Given the description of an element on the screen output the (x, y) to click on. 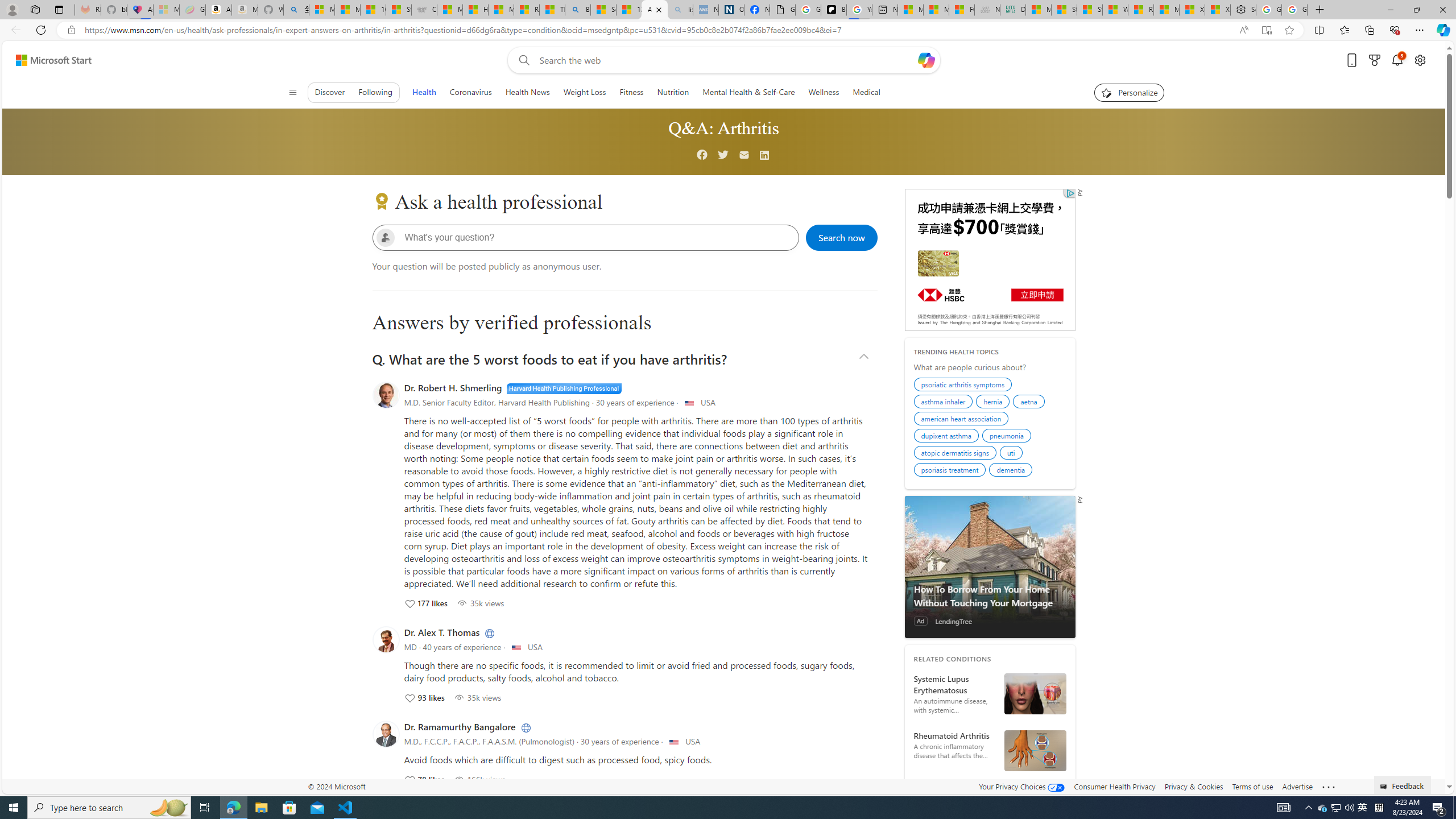
Recipes - MSN (526, 9)
atopic dermatitis signs (956, 453)
Be Smart | creating Science videos | Patreon (833, 9)
Class: qc-adchoices-link top-right  (1068, 193)
What's your question? (594, 237)
dupixent asthma (947, 437)
Health News (527, 92)
35593 View; Click to View (477, 697)
